Given the description of an element on the screen output the (x, y) to click on. 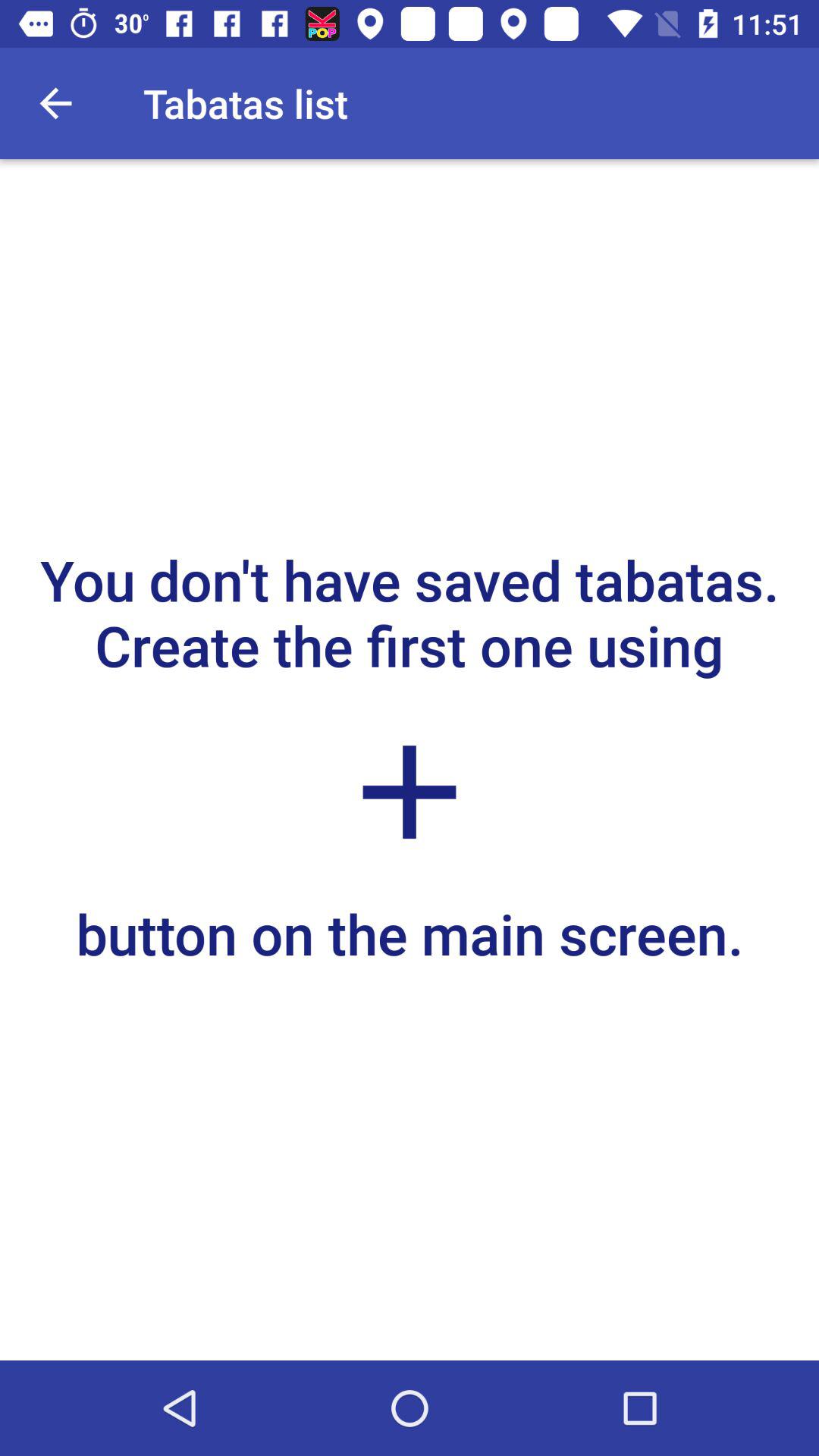
press item next to tabatas list item (55, 103)
